Given the description of an element on the screen output the (x, y) to click on. 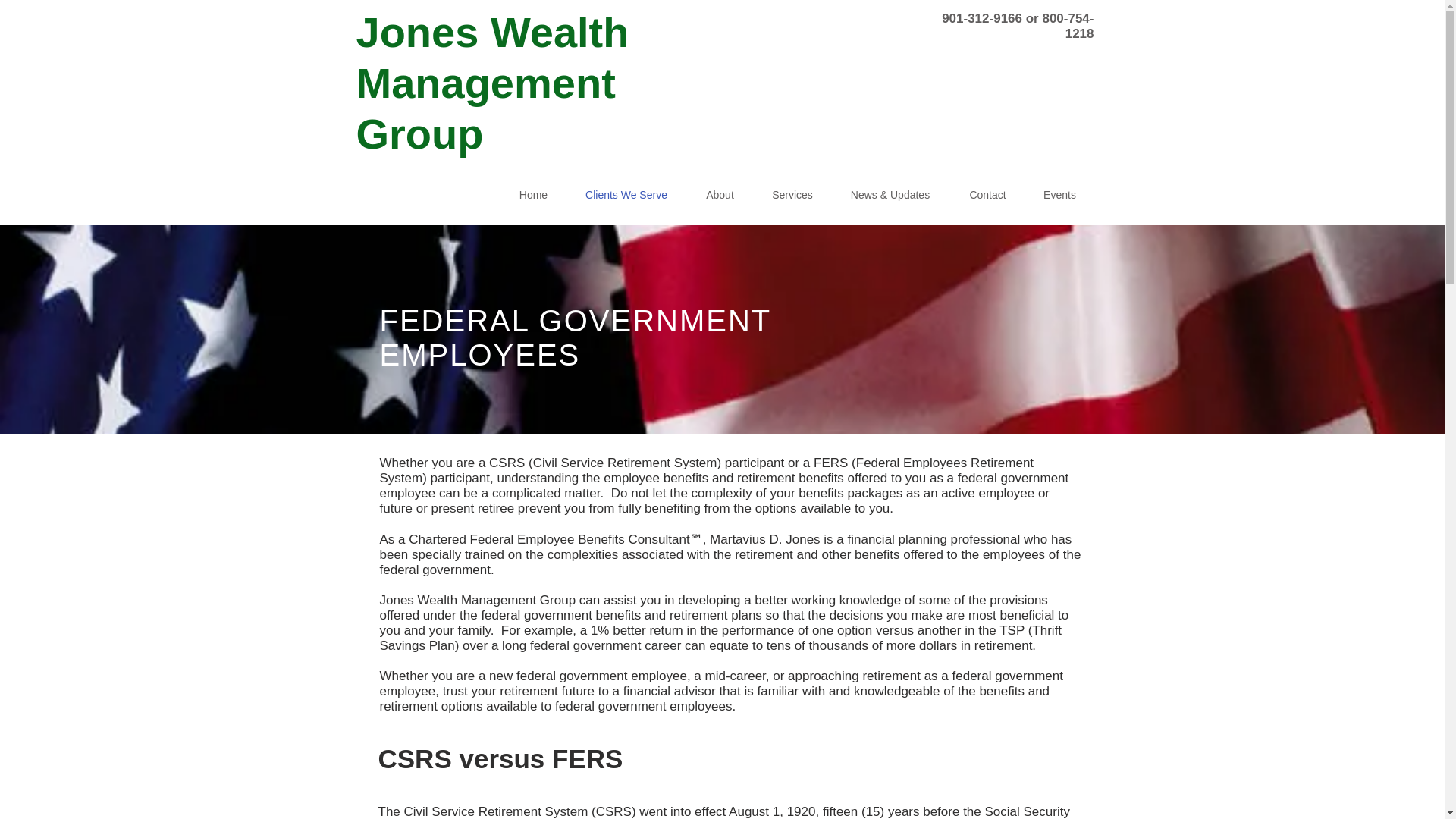
About (719, 195)
Services (791, 195)
Clients We Serve (626, 195)
Events (1059, 195)
Home (533, 195)
Contact (987, 195)
